Given the description of an element on the screen output the (x, y) to click on. 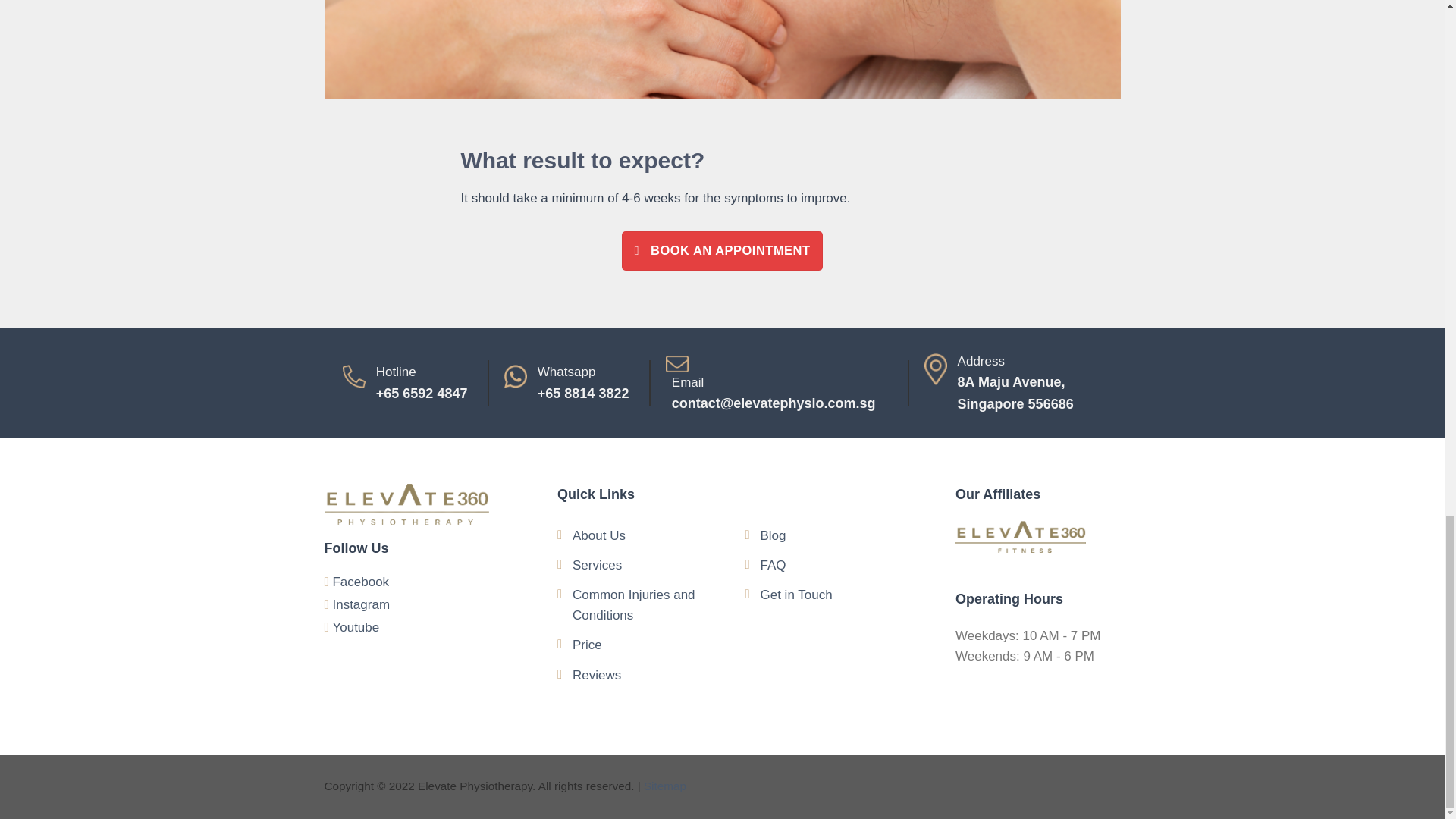
BOOK AN APPOINTMENT (1021, 383)
Facebook (721, 250)
